Given the description of an element on the screen output the (x, y) to click on. 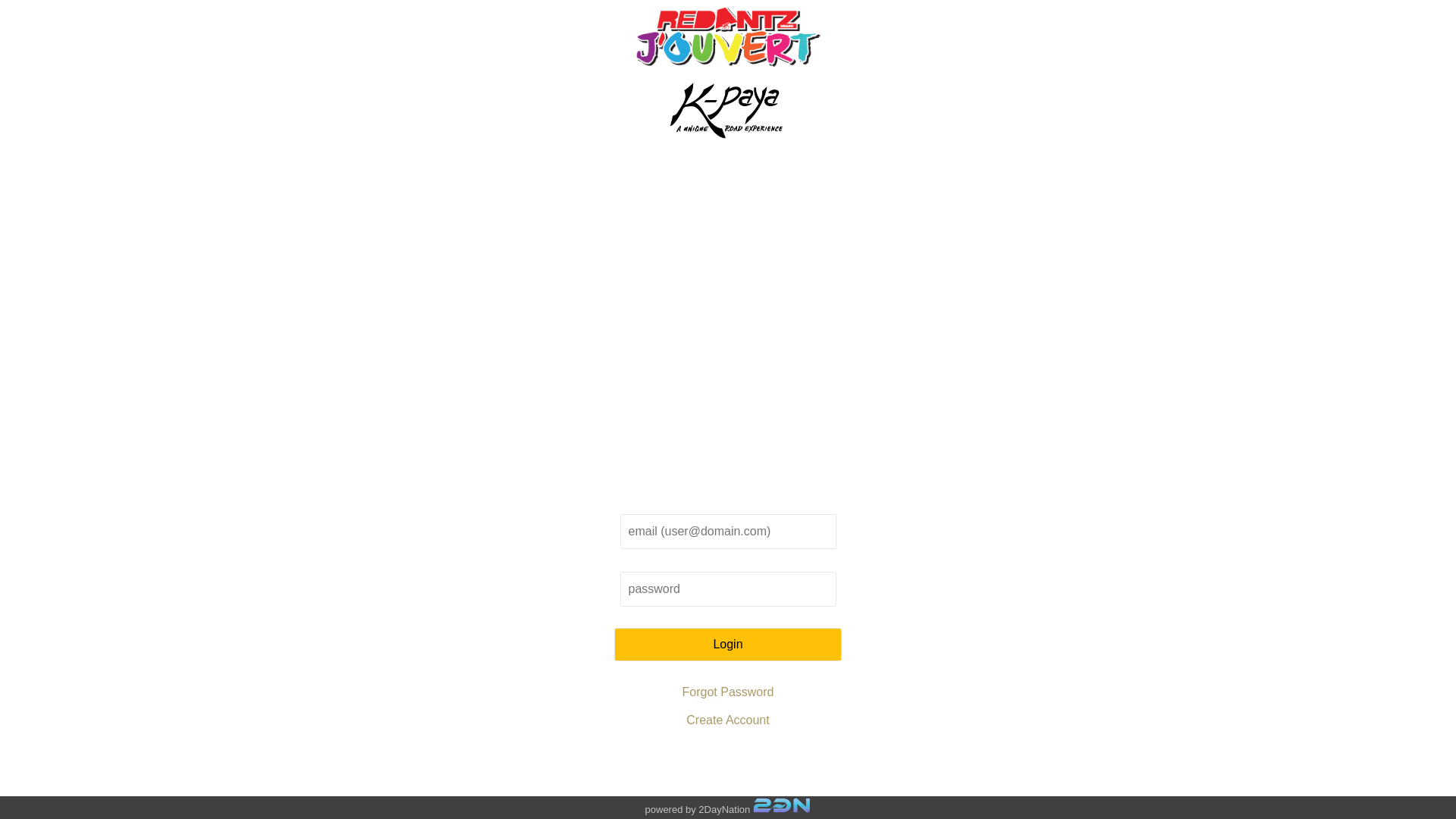
Forgot Password Element type: text (728, 691)
Login Element type: text (727, 644)
Create Account Element type: text (727, 719)
